Given the description of an element on the screen output the (x, y) to click on. 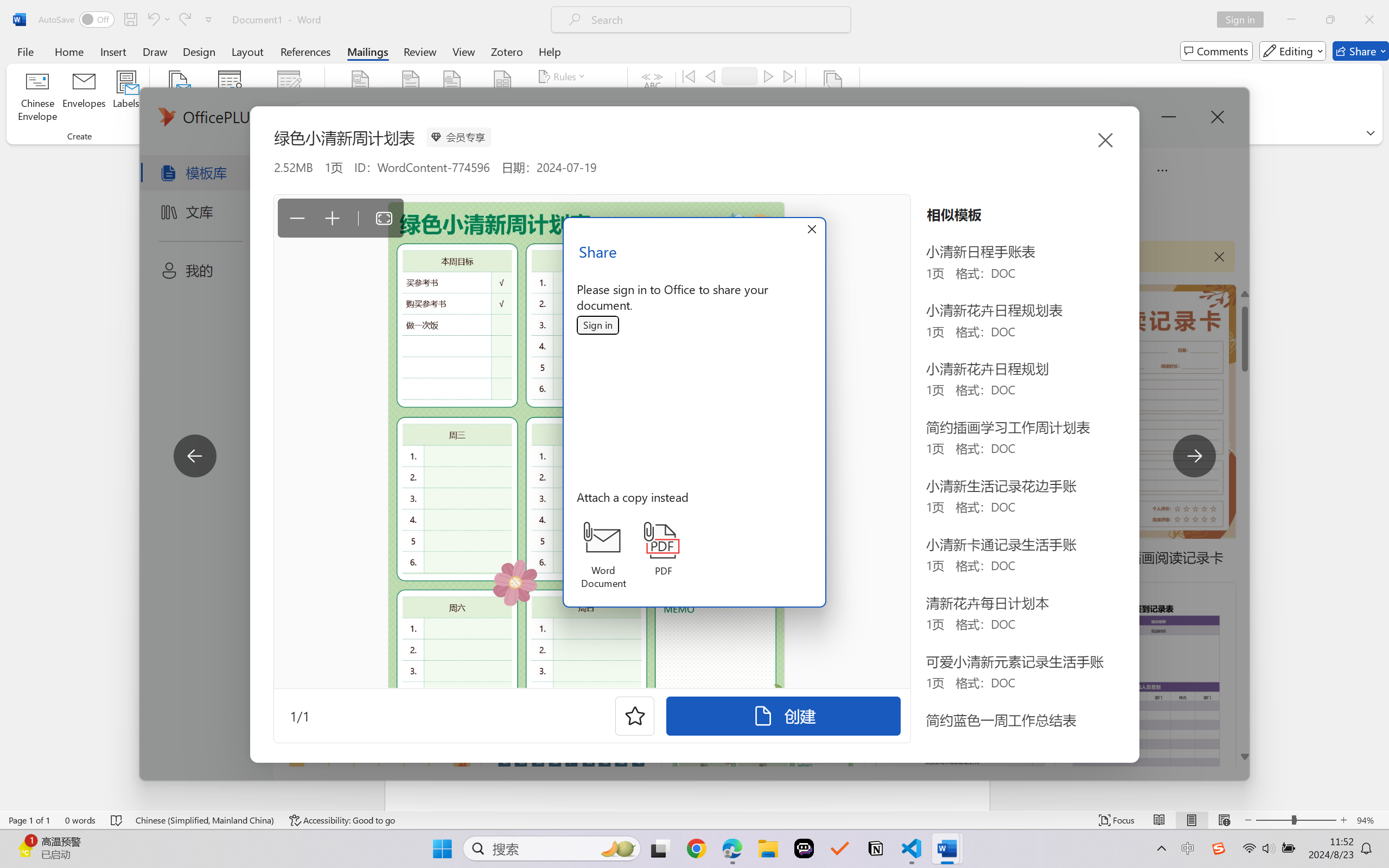
Previous (709, 75)
Undo Apply Quick Style Set (158, 19)
